Given the description of an element on the screen output the (x, y) to click on. 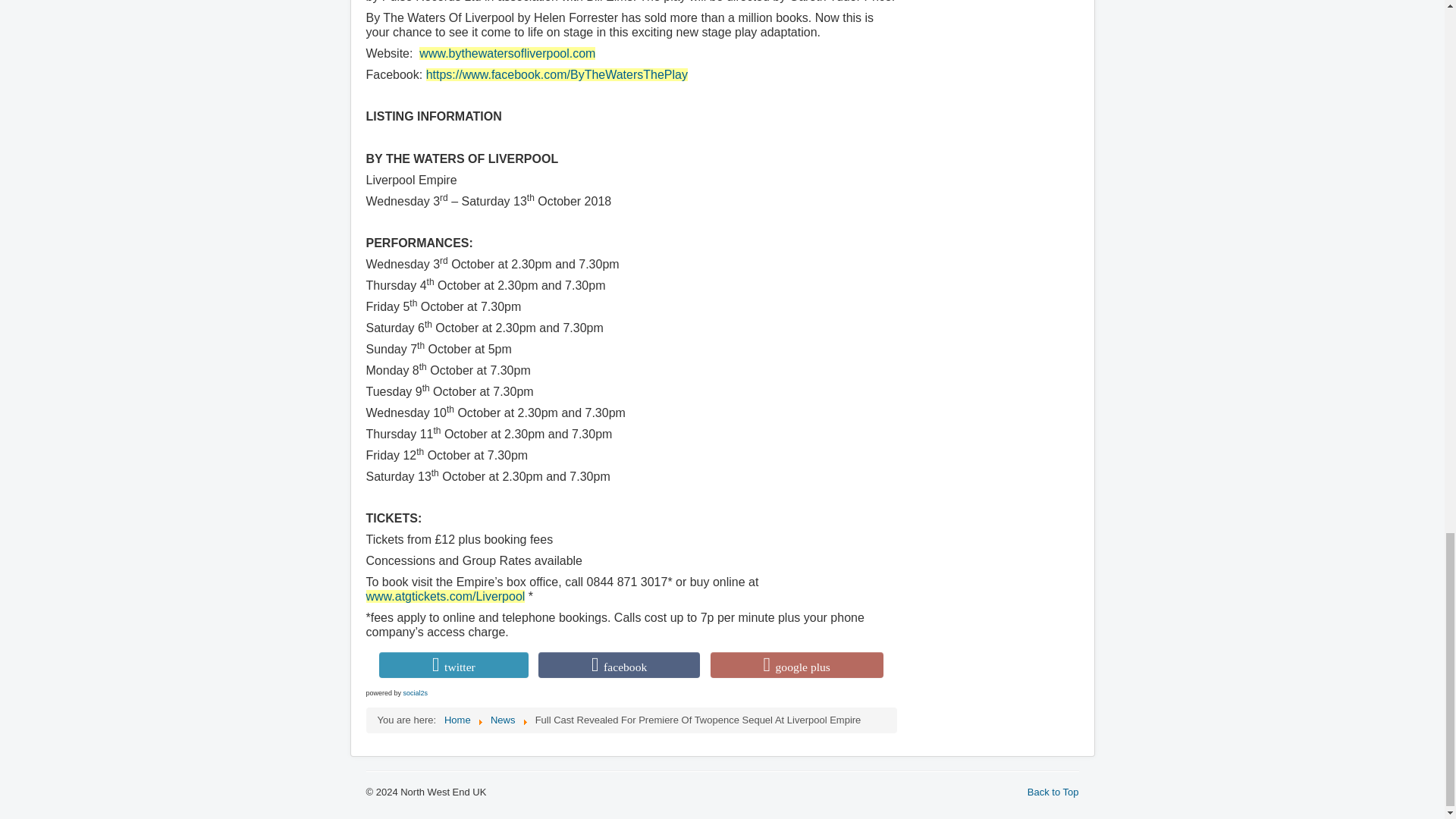
www.bythewatersofliverpool.com (507, 52)
google plus (796, 664)
social2s (415, 692)
twitter (452, 664)
Home (457, 719)
News (502, 719)
facebook (619, 664)
